Given the description of an element on the screen output the (x, y) to click on. 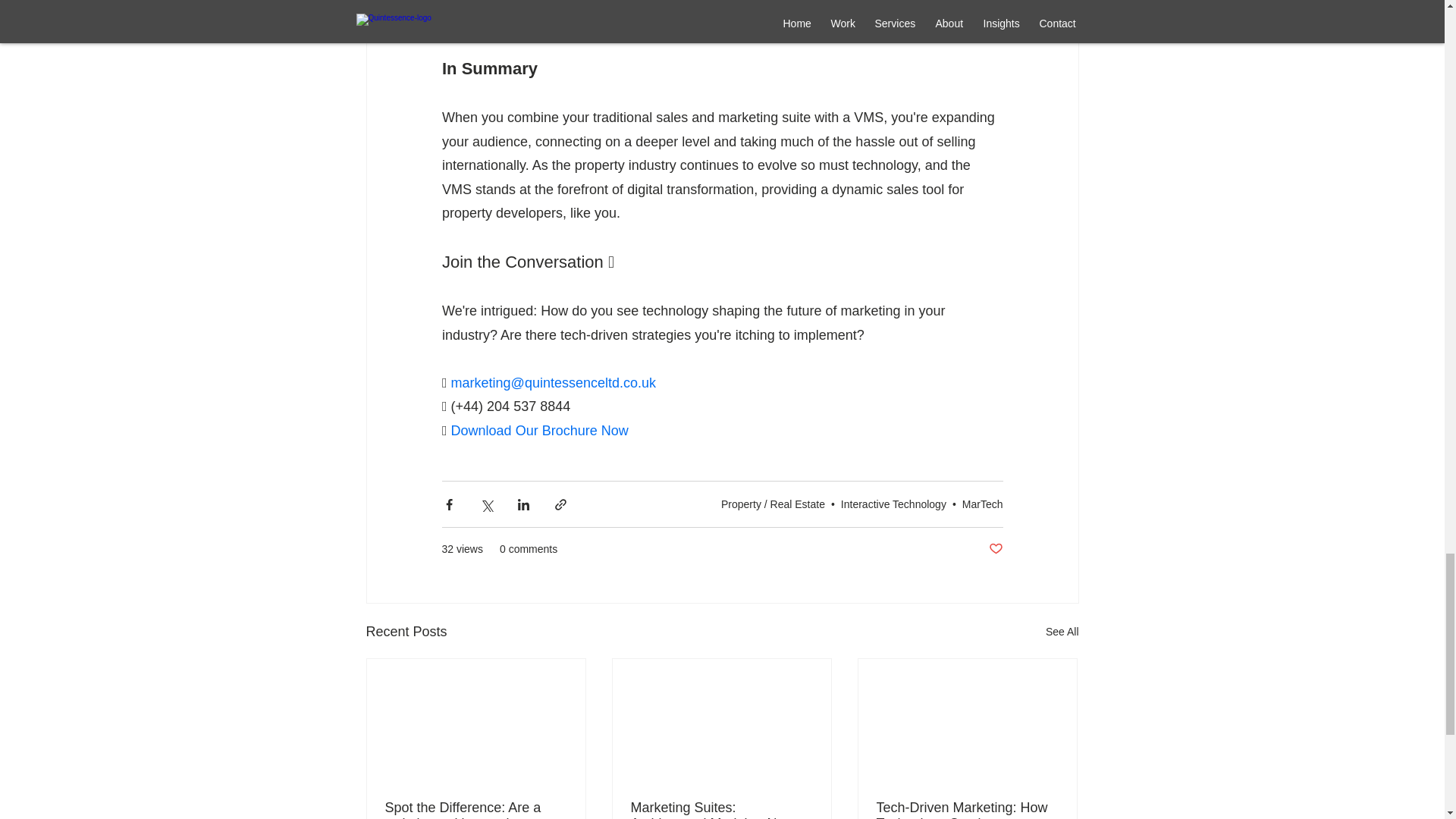
Download Our Brochure Now (538, 430)
